Given the description of an element on the screen output the (x, y) to click on. 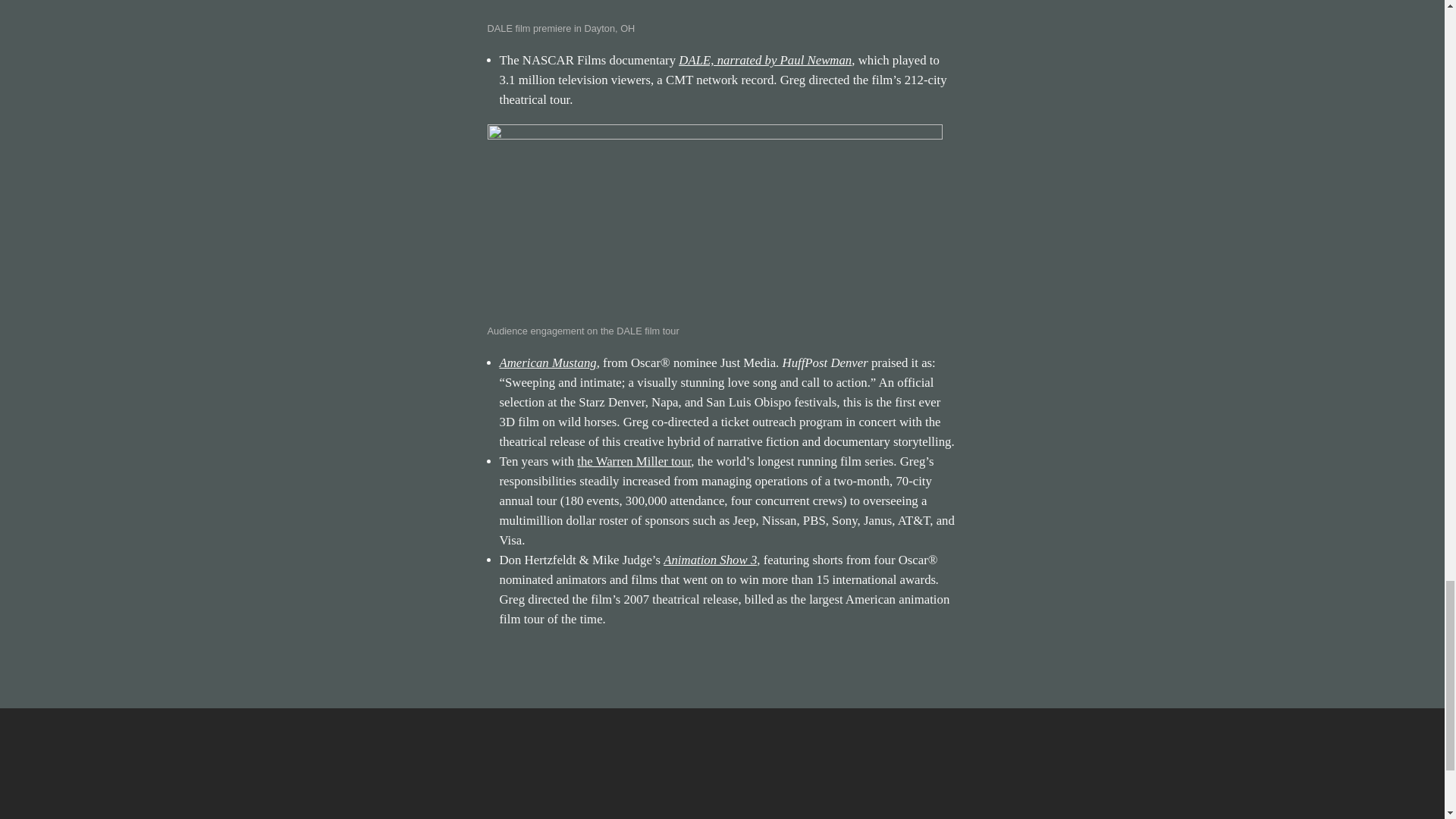
the Warren Miller tour (633, 461)
American Mustang (547, 362)
Animation Show 3 (710, 559)
DALE, narrated by Paul Newman (764, 60)
